Given the description of an element on the screen output the (x, y) to click on. 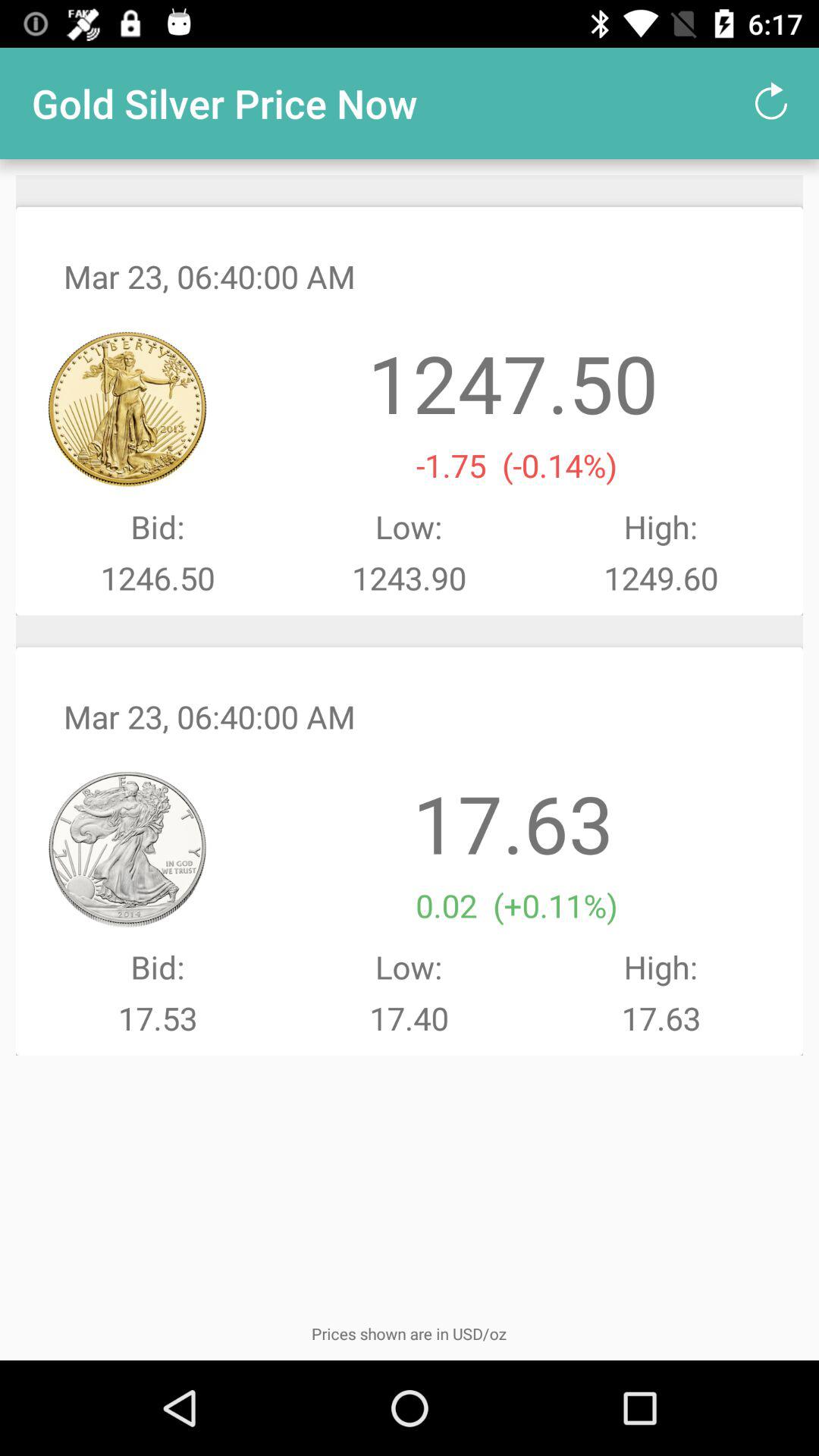
press item next to the gold silver price icon (771, 103)
